Given the description of an element on the screen output the (x, y) to click on. 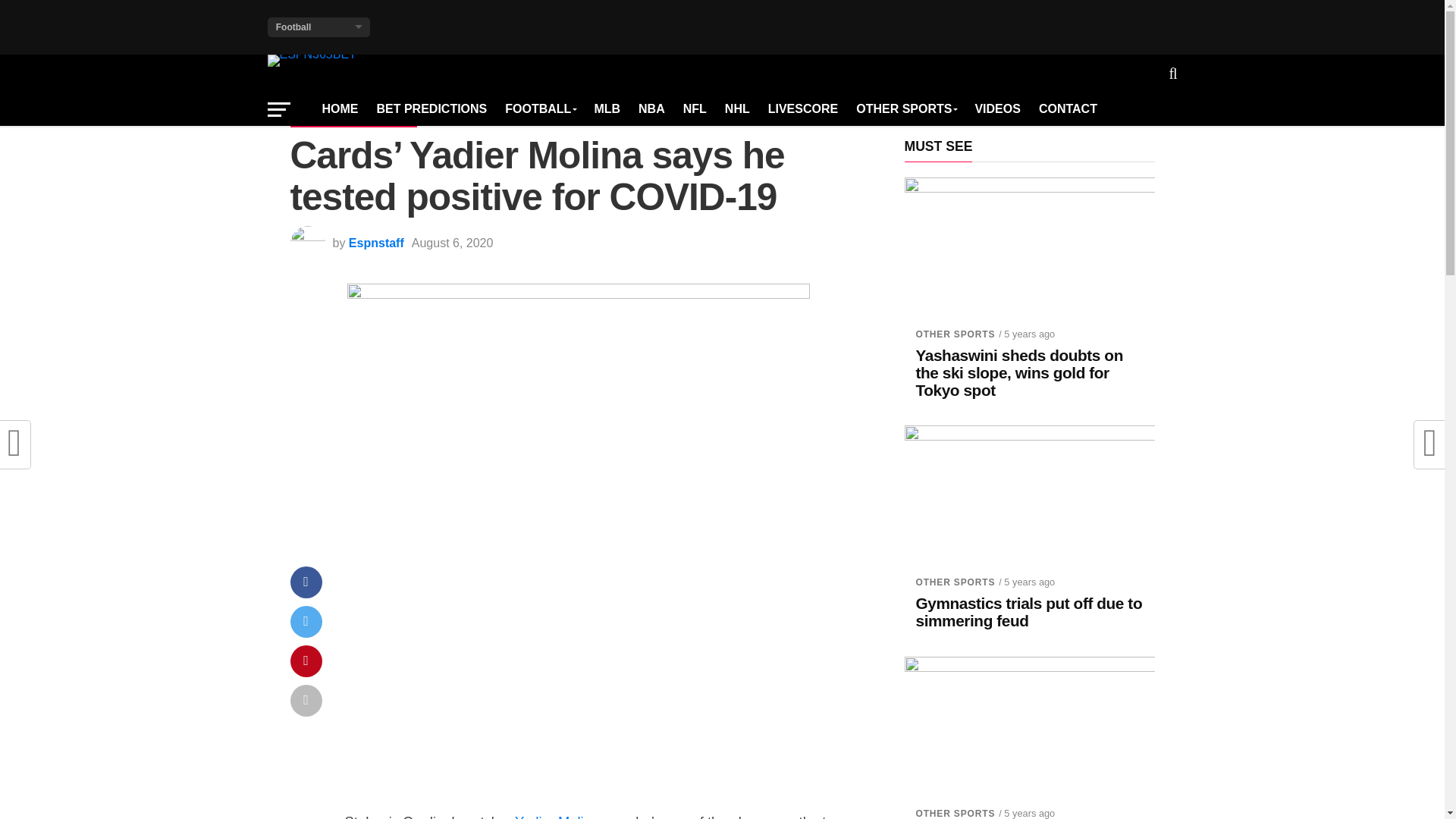
FOOTBALL (540, 109)
MLB (606, 109)
HOME (339, 109)
NFL (695, 109)
BET PREDICTIONS (431, 109)
OTHER SPORTS (906, 109)
Posts by Espnstaff (376, 242)
NHL (737, 109)
LIVESCORE (802, 109)
NBA (651, 109)
